Given the description of an element on the screen output the (x, y) to click on. 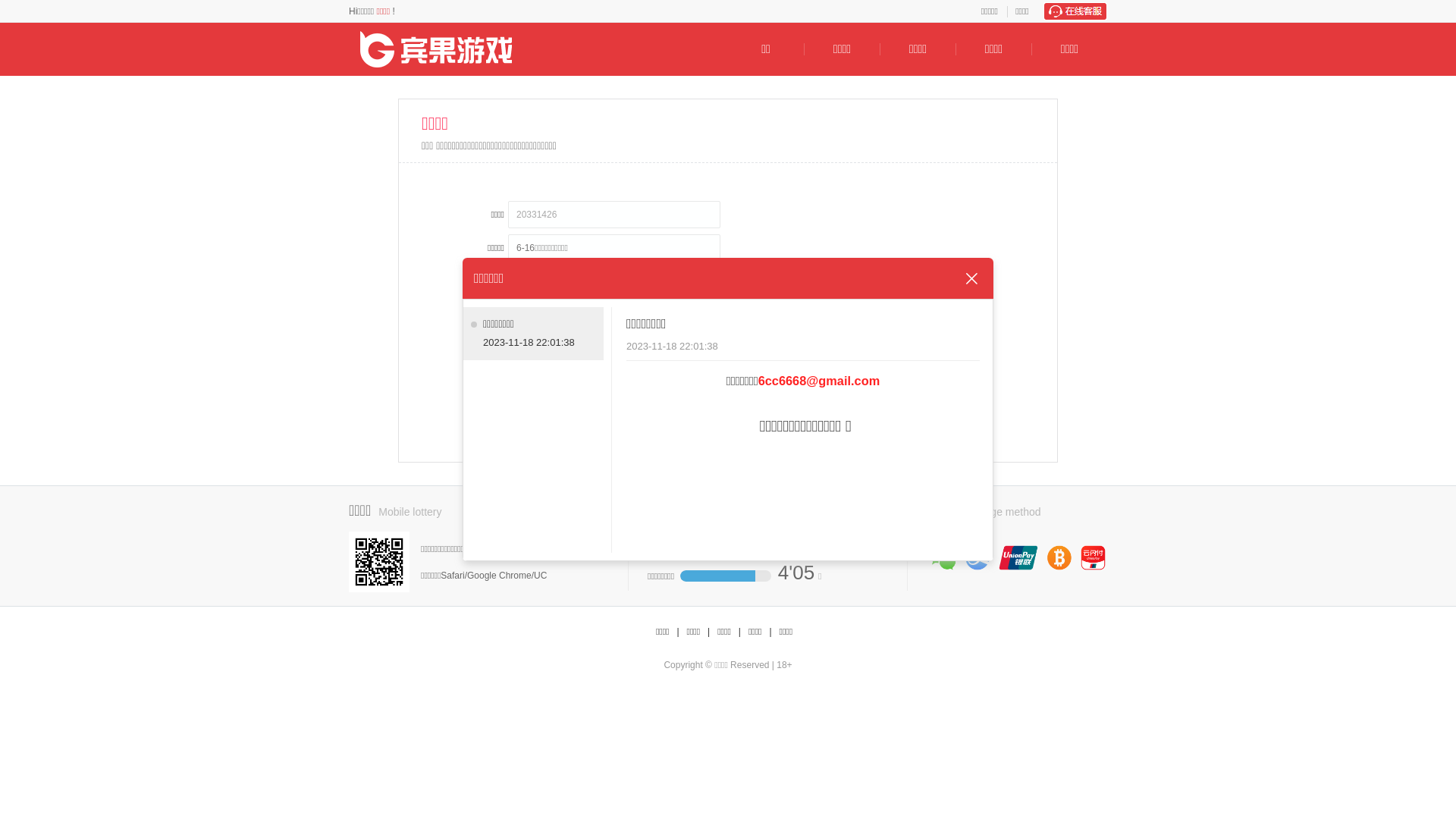
| Element type: text (739, 631)
| Element type: text (769, 631)
| Element type: text (677, 631)
| Element type: text (708, 631)
